Given the description of an element on the screen output the (x, y) to click on. 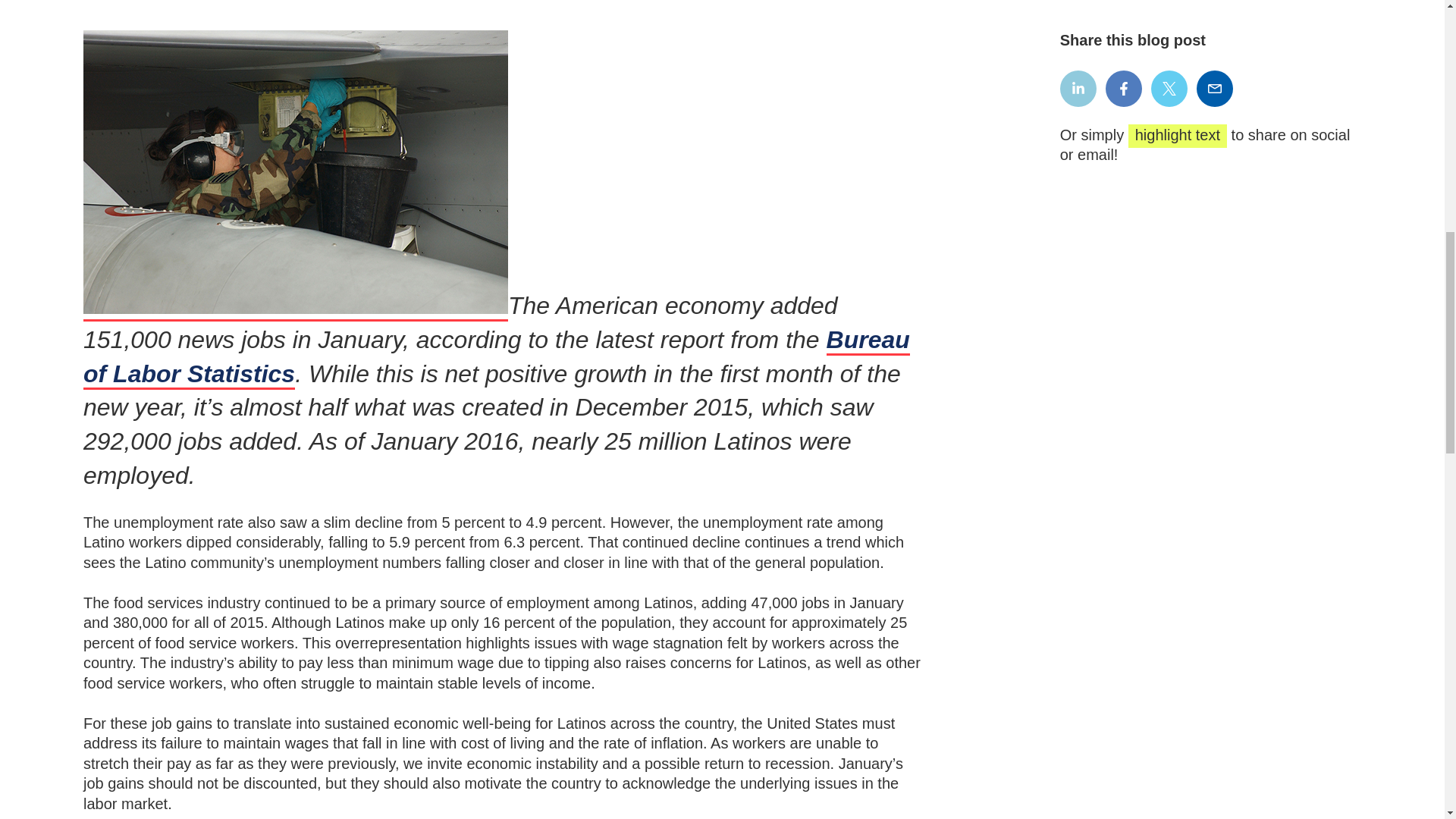
LinkedIn share (1077, 88)
Bureau of Labor Statistics (496, 357)
X share (1169, 88)
Email share (1214, 88)
Facebook share (1123, 88)
